Given the description of an element on the screen output the (x, y) to click on. 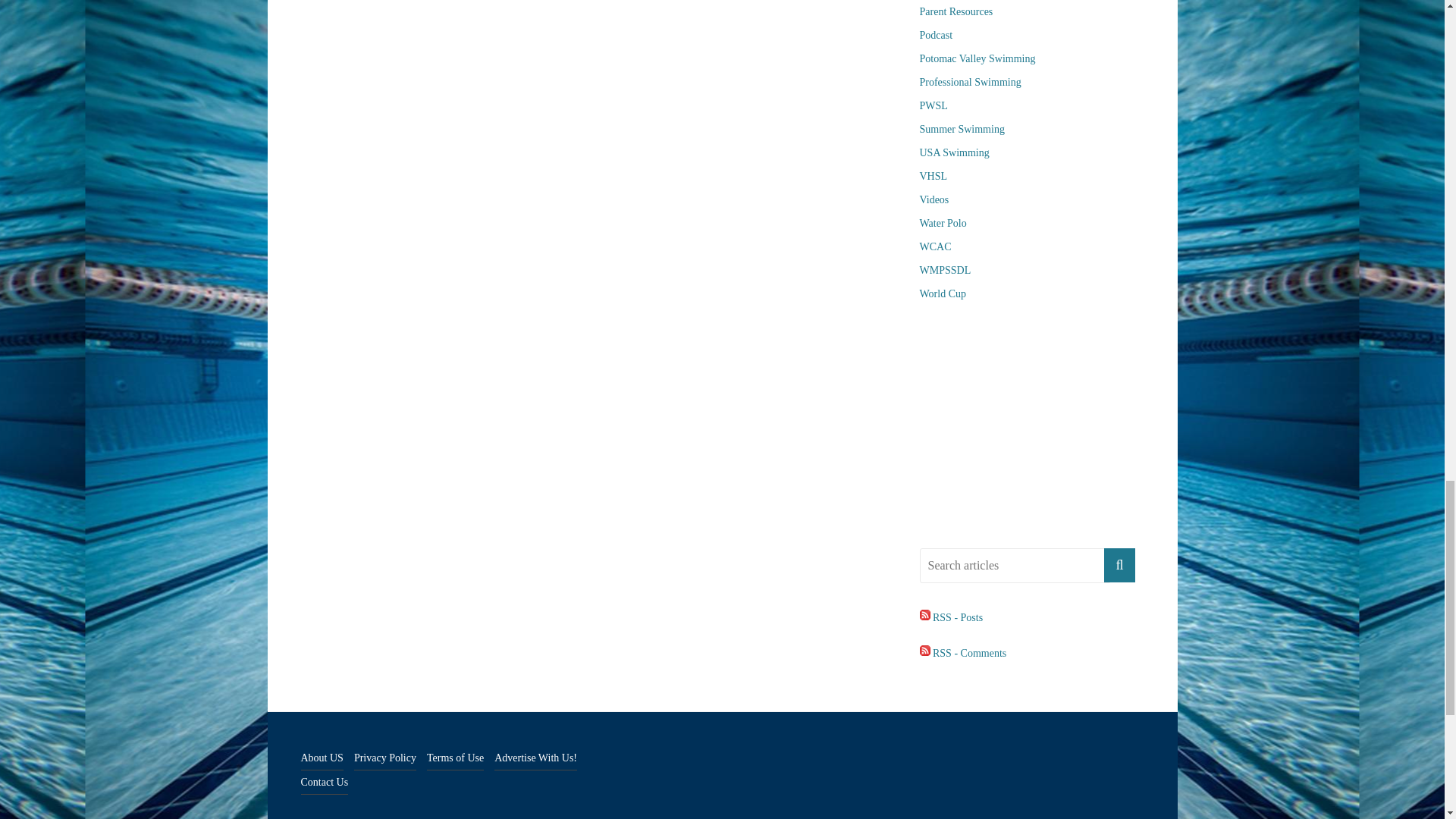
Advertisement (1036, 426)
Subscribe to comments (962, 653)
Subscribe to posts (950, 617)
